Given the description of an element on the screen output the (x, y) to click on. 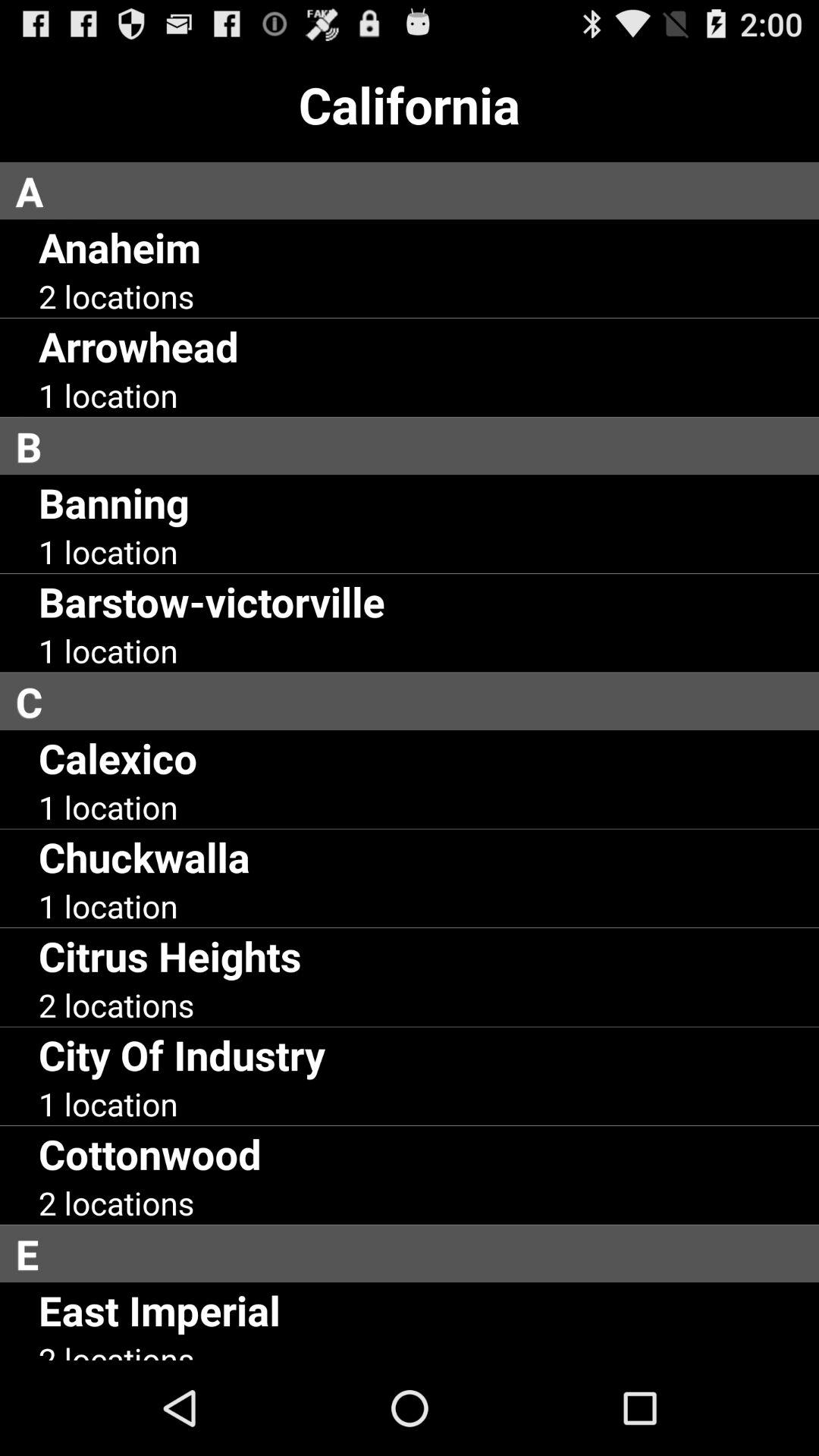
jump until b (417, 445)
